Given the description of an element on the screen output the (x, y) to click on. 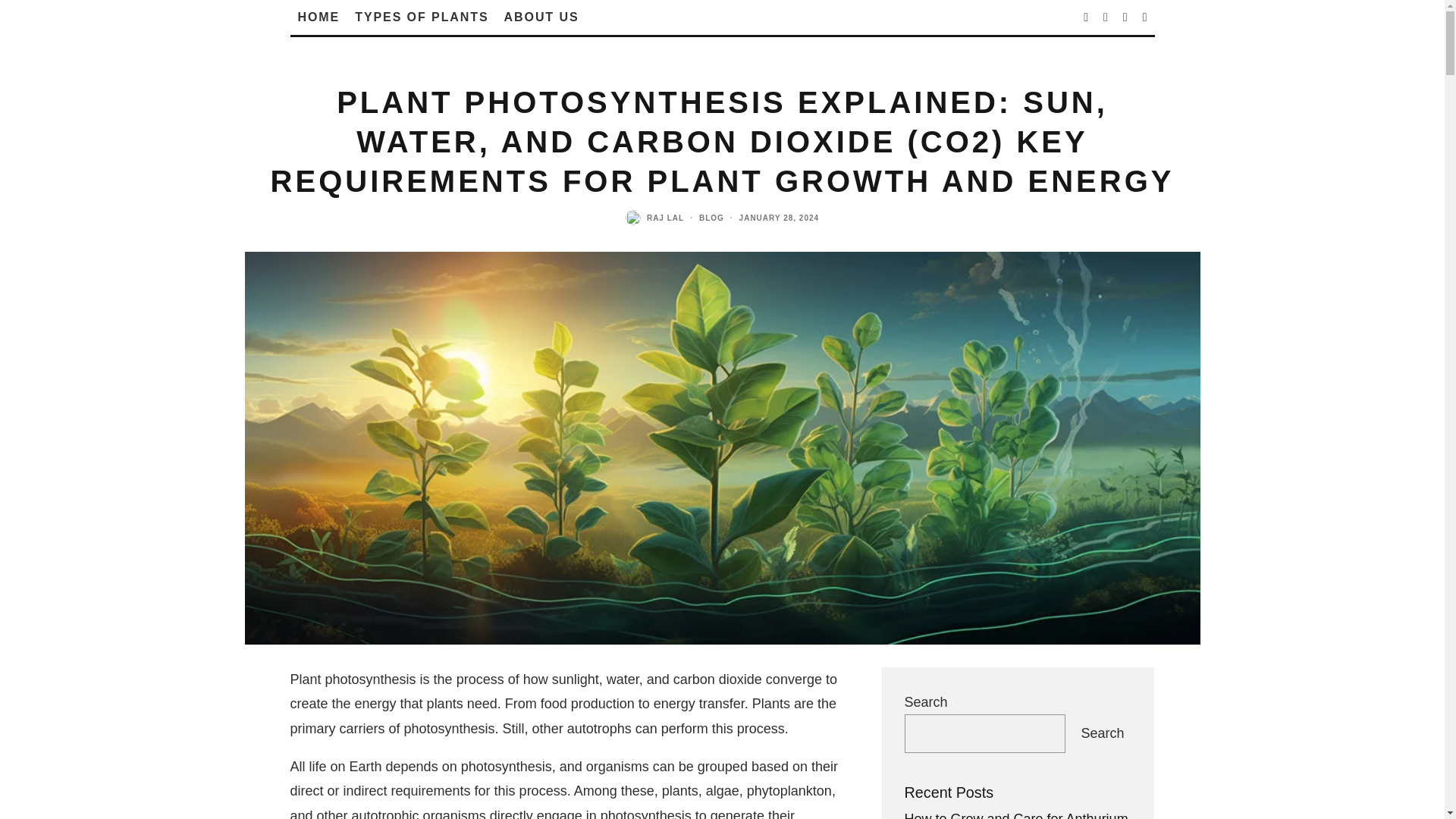
HOME (318, 17)
BLOG (710, 216)
TYPES OF PLANTS (421, 17)
RAJ LAL (665, 217)
ABOUT US (541, 17)
